Given the description of an element on the screen output the (x, y) to click on. 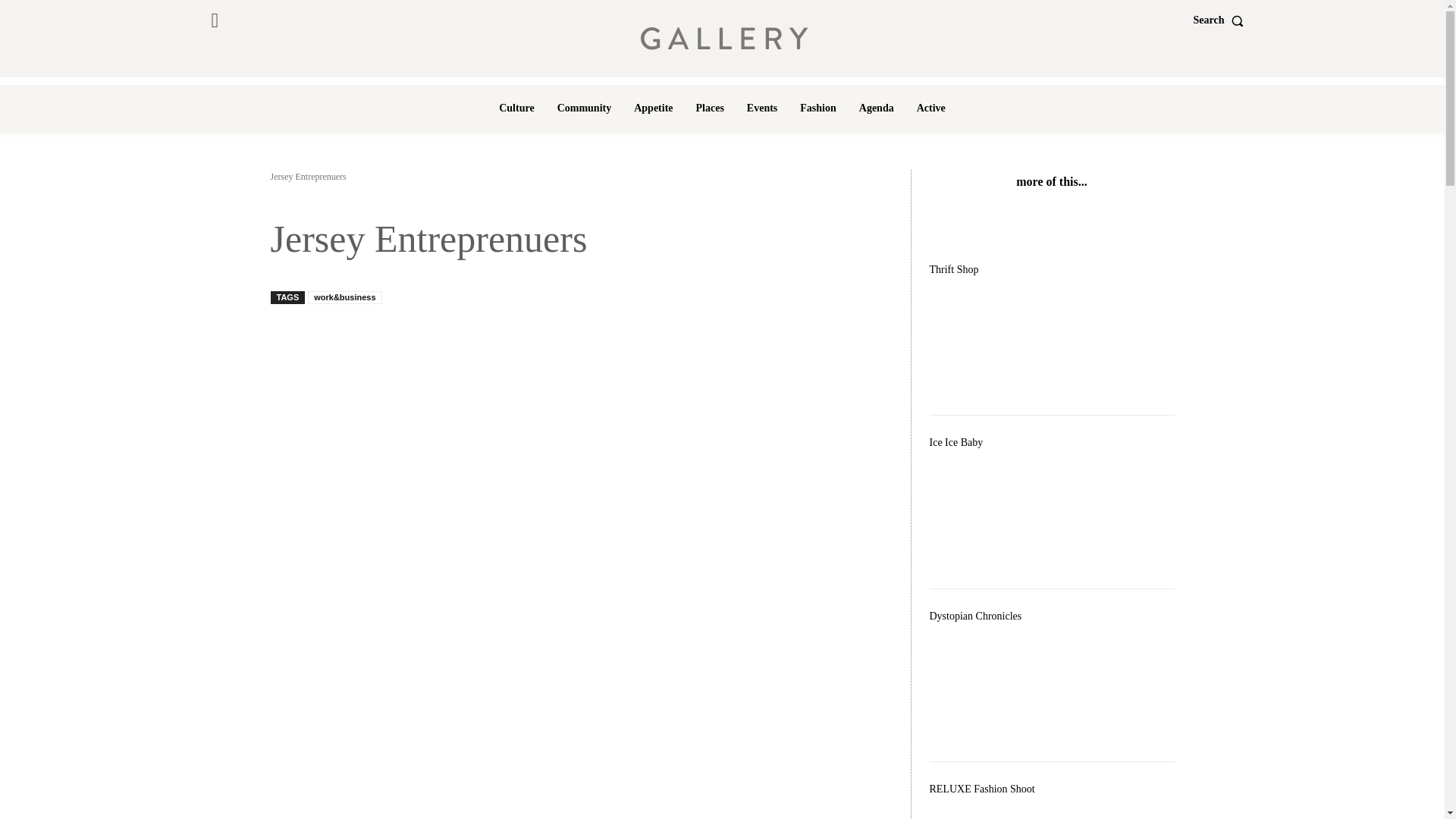
Appetite (652, 108)
Culture (516, 108)
Community (585, 108)
Search (1221, 20)
Agenda (876, 108)
Events (761, 108)
Thrift Shop (1052, 342)
Places (710, 108)
Active (930, 108)
Ice Ice Baby (1052, 515)
